Given the description of an element on the screen output the (x, y) to click on. 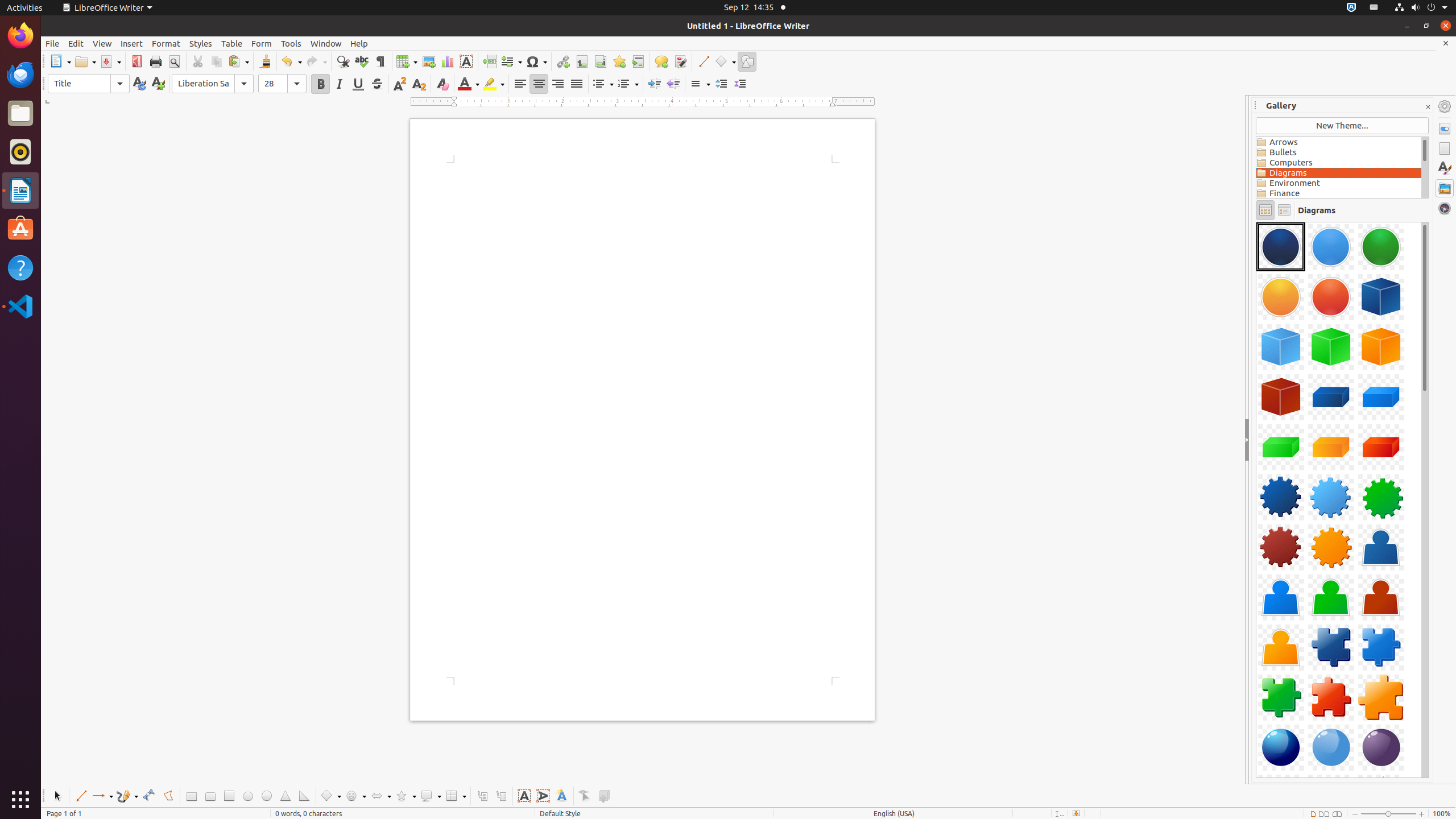
:1.72/StatusNotifierItem Element type: menu (1350, 7)
Clear Element type: push-button (441, 83)
Component-Person04-DarkRed Element type: list-item (1380, 596)
System Element type: menu (1420, 7)
Bullets Element type: push-button (602, 83)
